Given the description of an element on the screen output the (x, y) to click on. 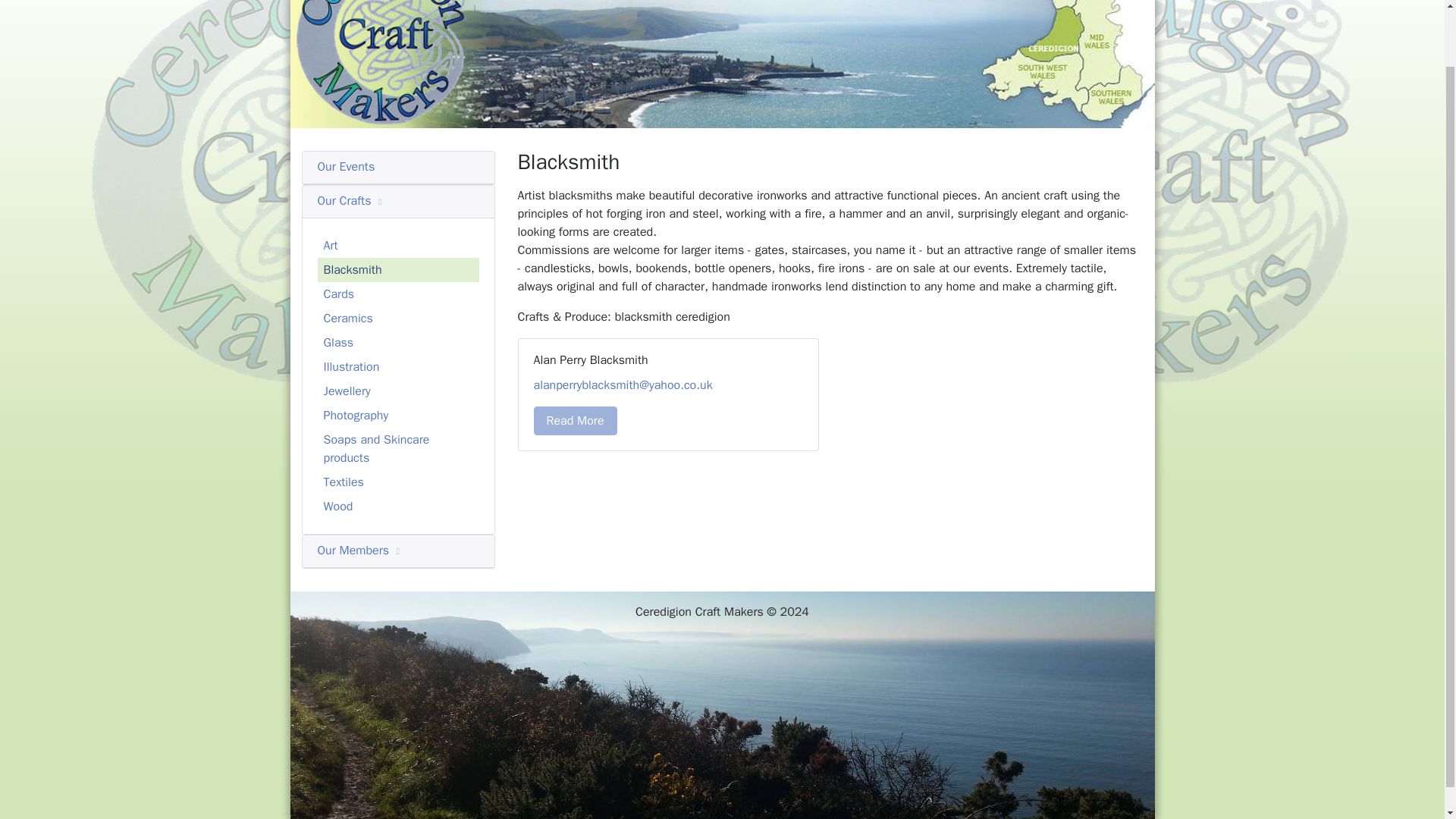
Photography (398, 415)
Ceramics (398, 318)
Blacksmith (398, 269)
Illustration (398, 366)
Textiles (398, 482)
Wood (398, 506)
Our Events (345, 166)
Cards (398, 293)
Our Crafts (351, 200)
Our Members (360, 549)
